Given the description of an element on the screen output the (x, y) to click on. 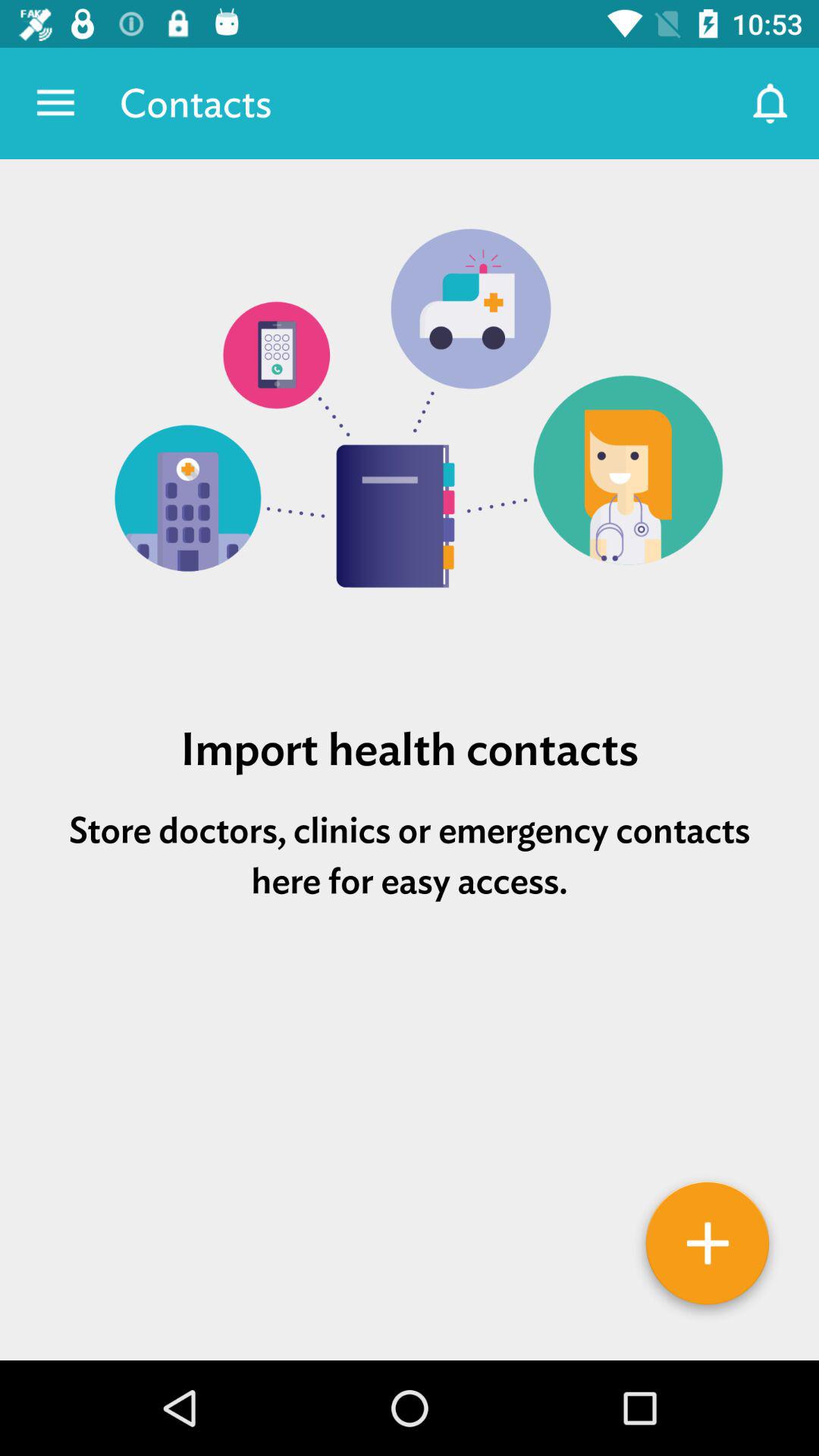
open the item next to the contacts (771, 103)
